Given the description of an element on the screen output the (x, y) to click on. 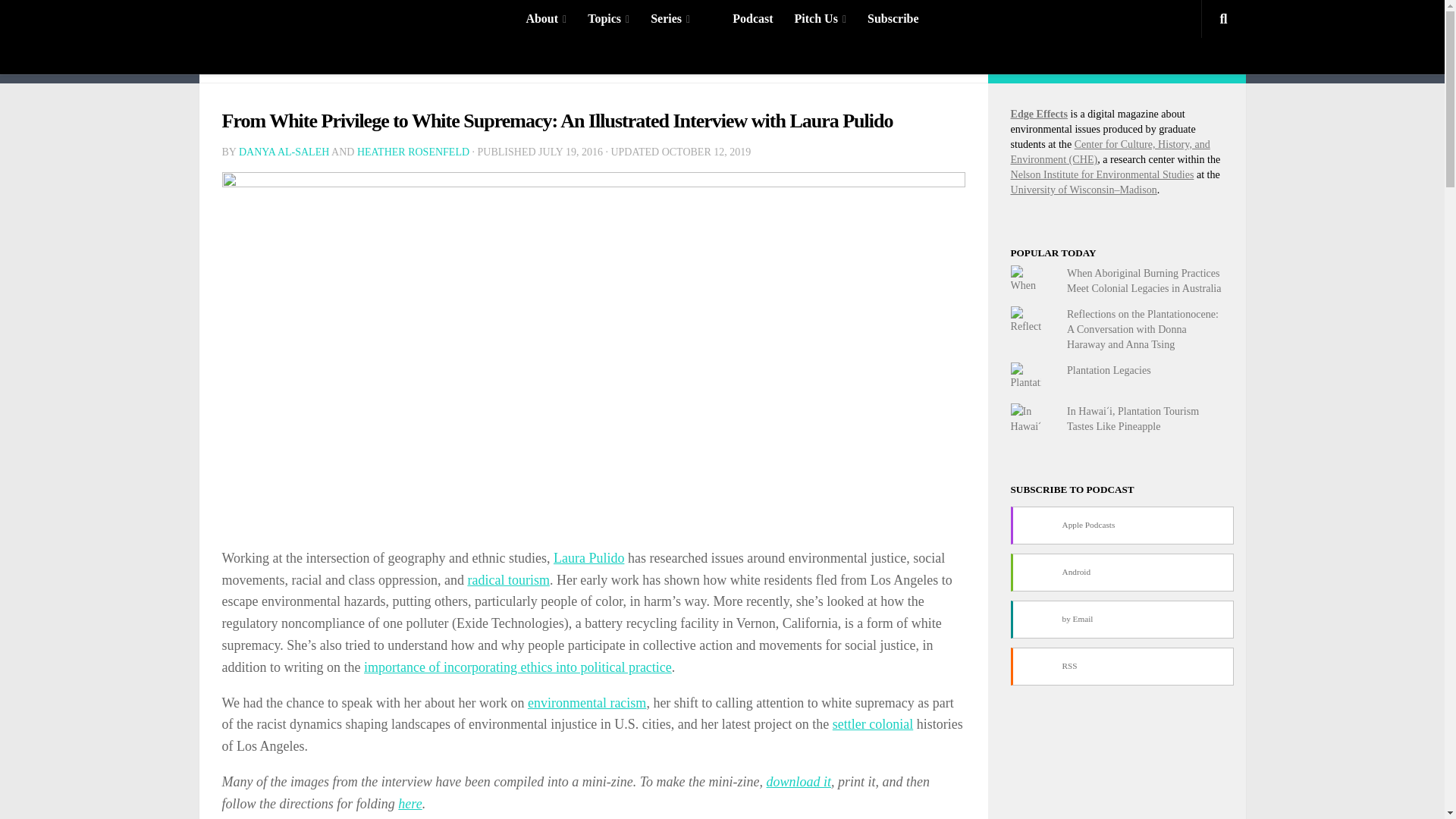
Podcast (752, 18)
Follow us on Apple (1188, 59)
Follow us on Rss (1213, 59)
Posts by Danya Al-Saleh (283, 152)
Follow us on Twitter (1115, 59)
Posts by Heather Rosenfeld (412, 152)
Skip to content (59, 20)
Series (670, 18)
Follow us on Instagram (1091, 59)
